Given the description of an element on the screen output the (x, y) to click on. 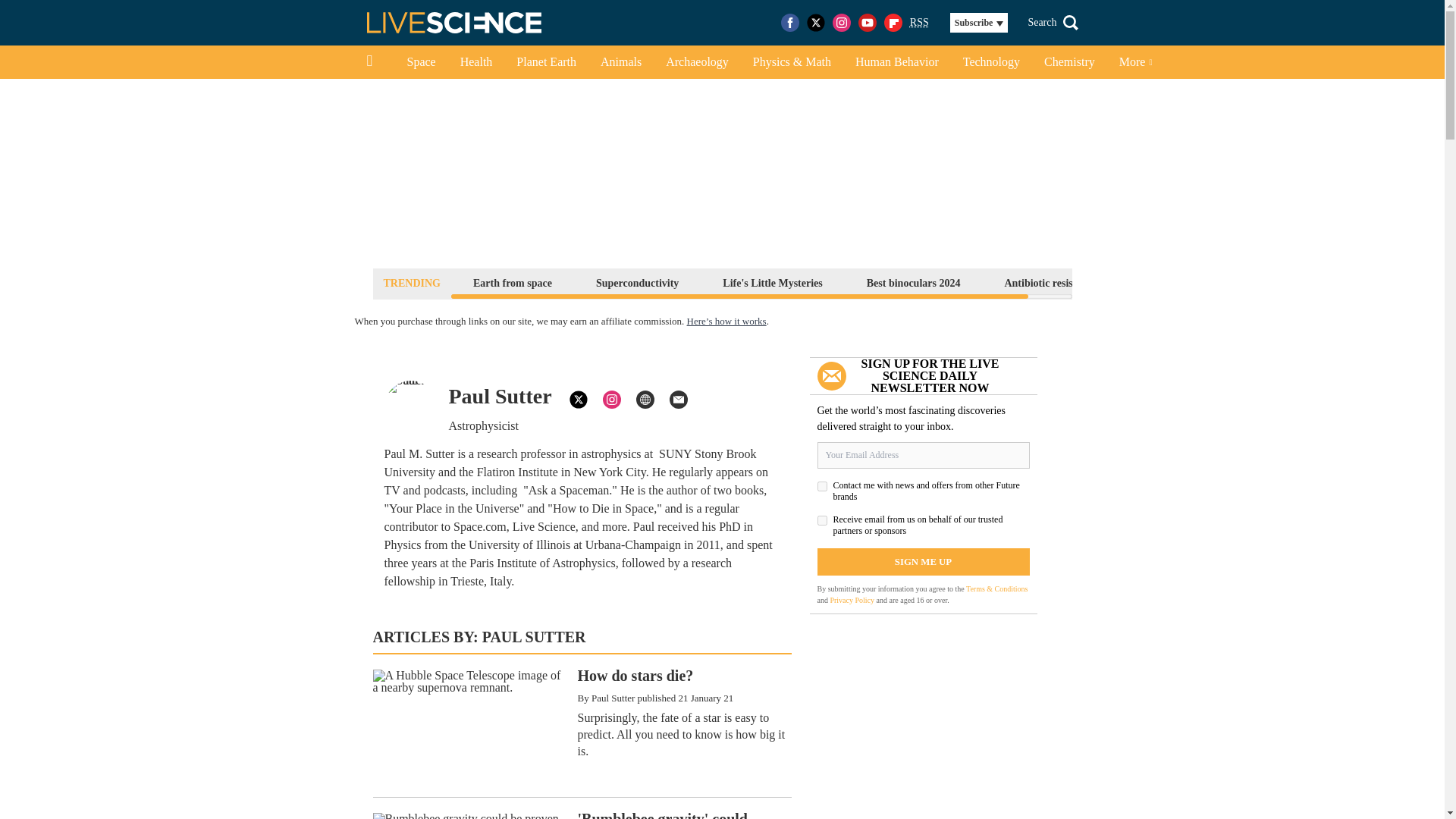
Antibiotic resistance (1050, 282)
Health (476, 61)
Life's Little Mysteries (772, 282)
Planet Earth (545, 61)
Sign me up (922, 561)
Archaeology (697, 61)
Really Simple Syndication (919, 21)
RSS (919, 22)
on (821, 486)
Best binoculars 2024 (913, 282)
